Given the description of an element on the screen output the (x, y) to click on. 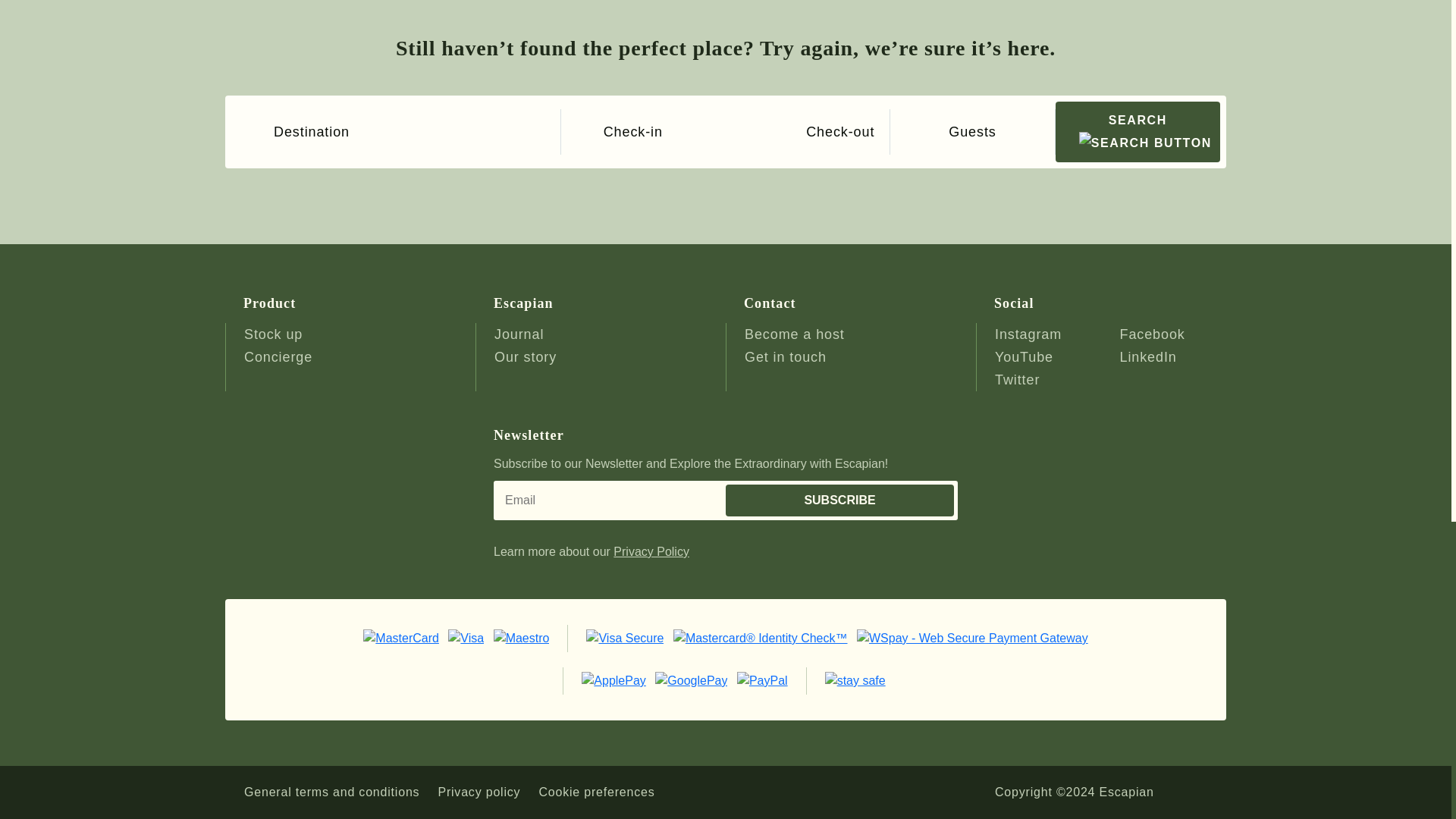
Visa Secure (624, 636)
Maestro (521, 636)
ApplePay (613, 679)
YouTube (1023, 356)
PayPal (855, 679)
WSpay - Web Secure Payment Gateway (971, 636)
Visa (465, 636)
GooglePay (691, 679)
Twitter (1016, 379)
PayPal (761, 679)
Facebook (1152, 334)
LinkedIn (1147, 356)
MasterCard (400, 636)
Instagram (1027, 334)
